Given the description of an element on the screen output the (x, y) to click on. 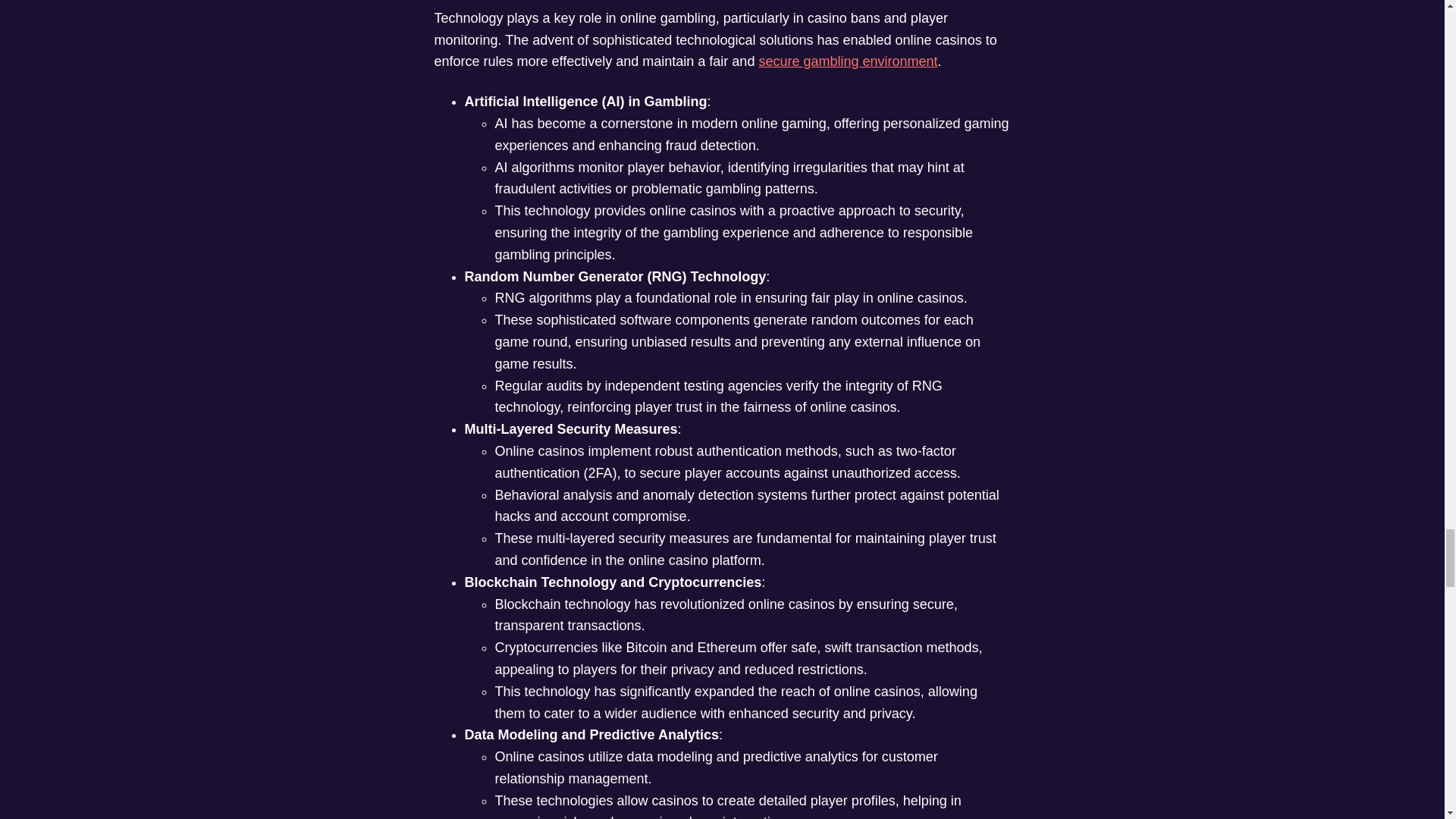
secure gambling environment (847, 61)
